Given the description of an element on the screen output the (x, y) to click on. 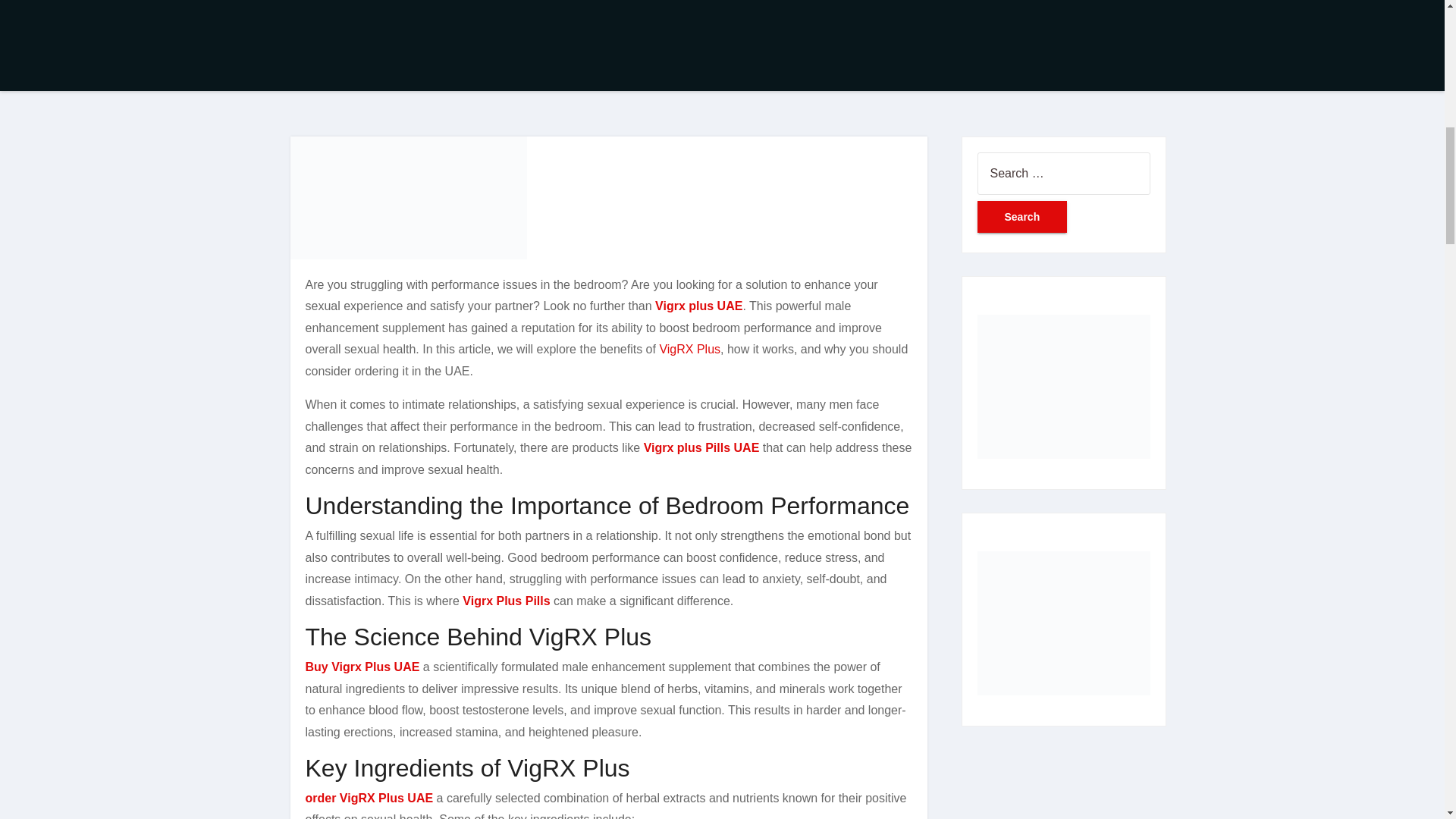
Vigrx plus Pills UAE (701, 447)
VigRX Plus (689, 349)
Search (1021, 216)
Vigrx Plus Pills (506, 600)
Search (1021, 216)
Buy Vigrx Plus UAE (361, 666)
Vigrx plus UAE (698, 305)
order VigRX Plus UAE (368, 797)
